Given the description of an element on the screen output the (x, y) to click on. 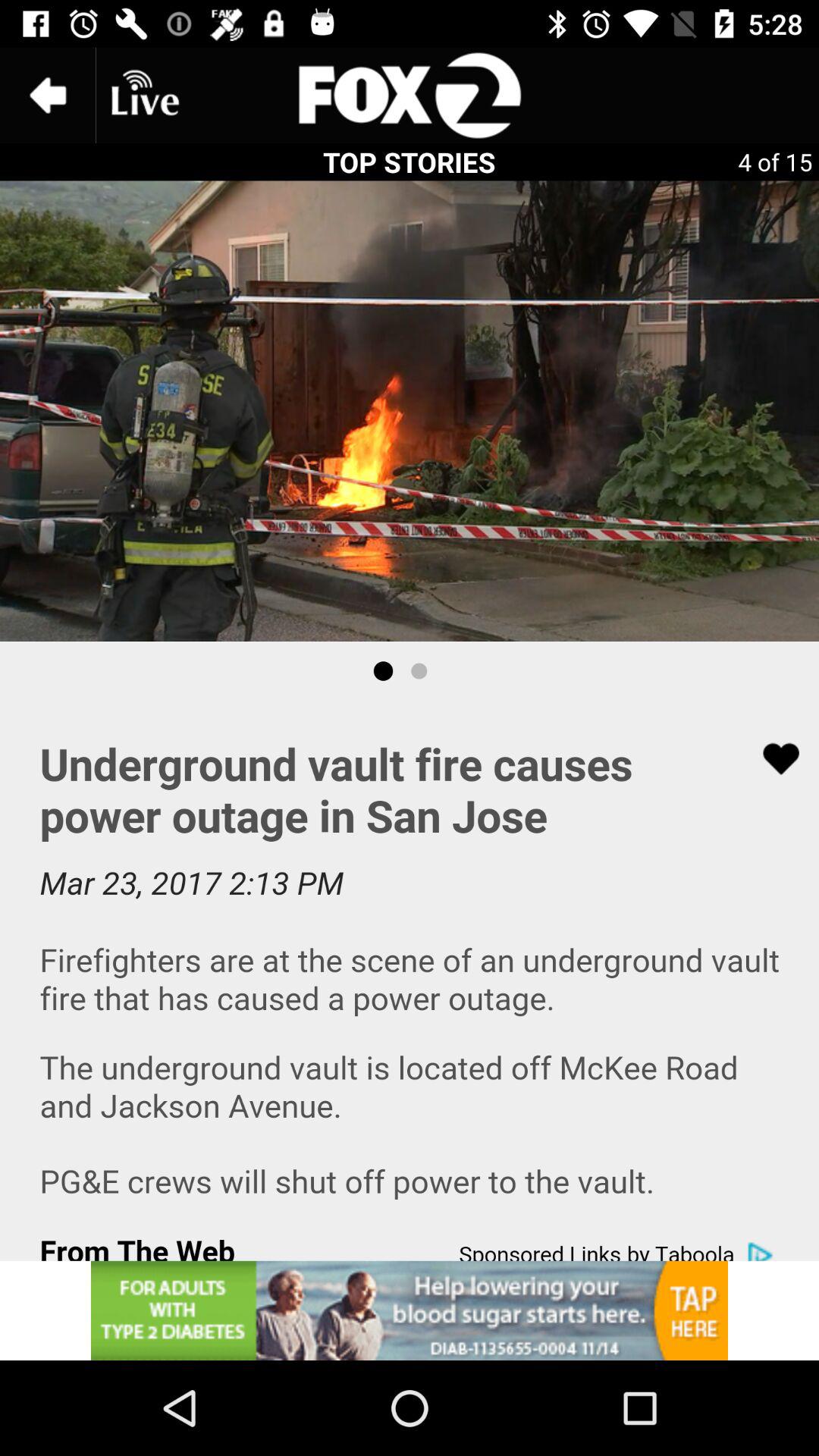
back the page (47, 95)
